Given the description of an element on the screen output the (x, y) to click on. 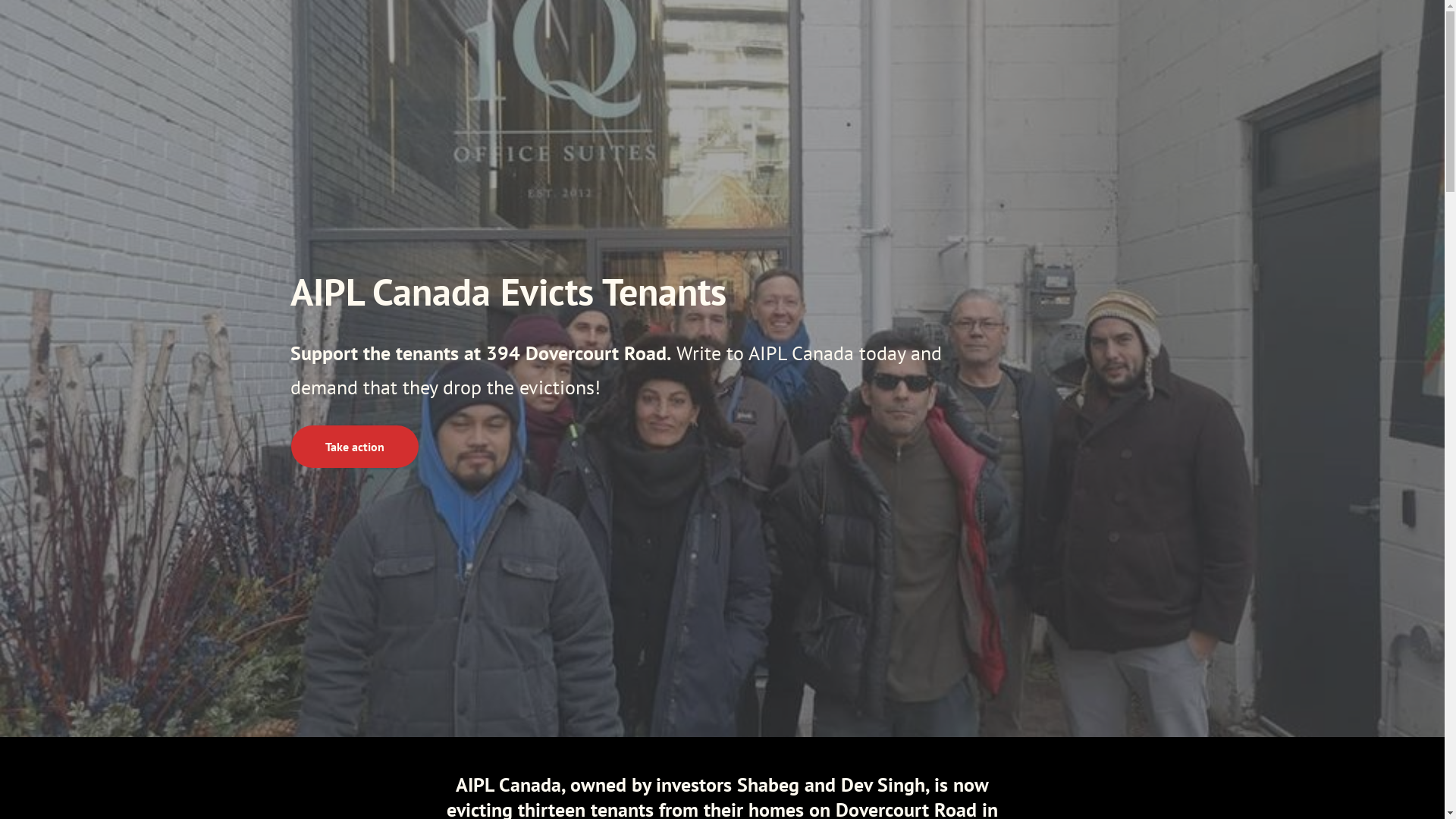
Take action Element type: text (353, 446)
